Given the description of an element on the screen output the (x, y) to click on. 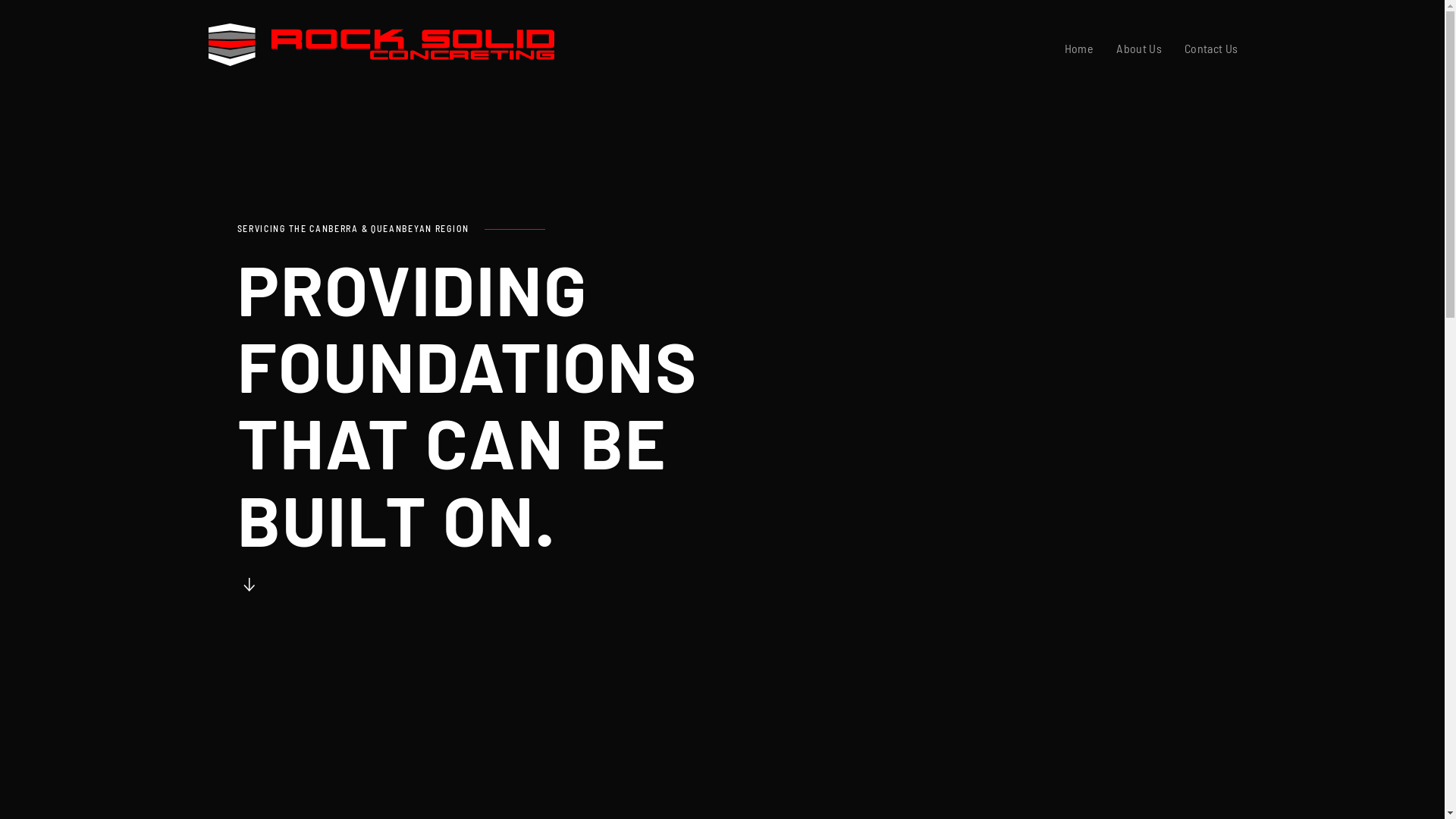
Home Element type: text (1078, 48)
Contact Us Element type: text (1211, 48)
About Us Element type: text (1138, 48)
